Given the description of an element on the screen output the (x, y) to click on. 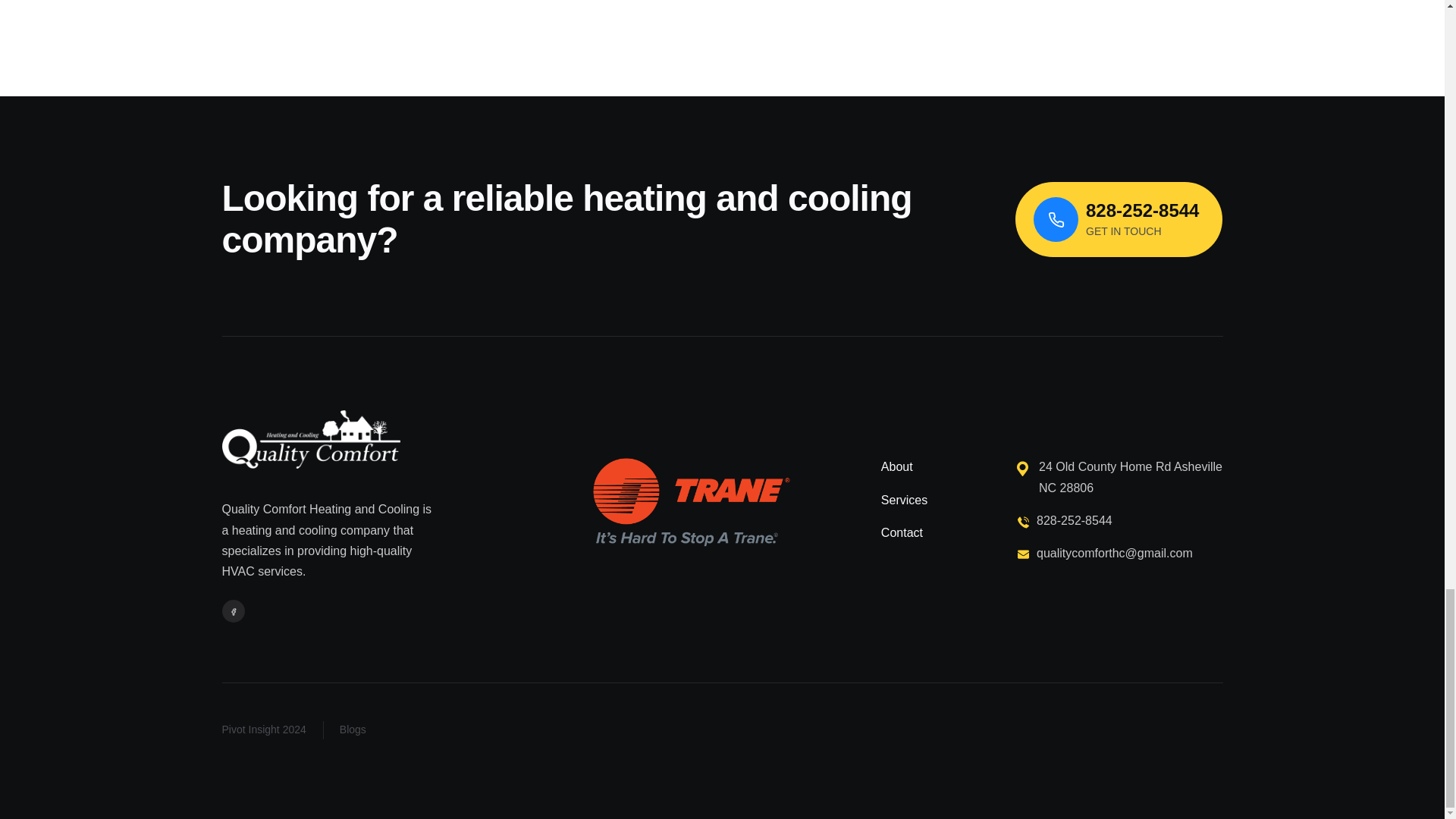
828-252-8544 (1118, 520)
Blogs (352, 729)
Pivot Insight 2024 (263, 729)
Contact (1118, 219)
About (901, 532)
Services (896, 466)
